Given the description of an element on the screen output the (x, y) to click on. 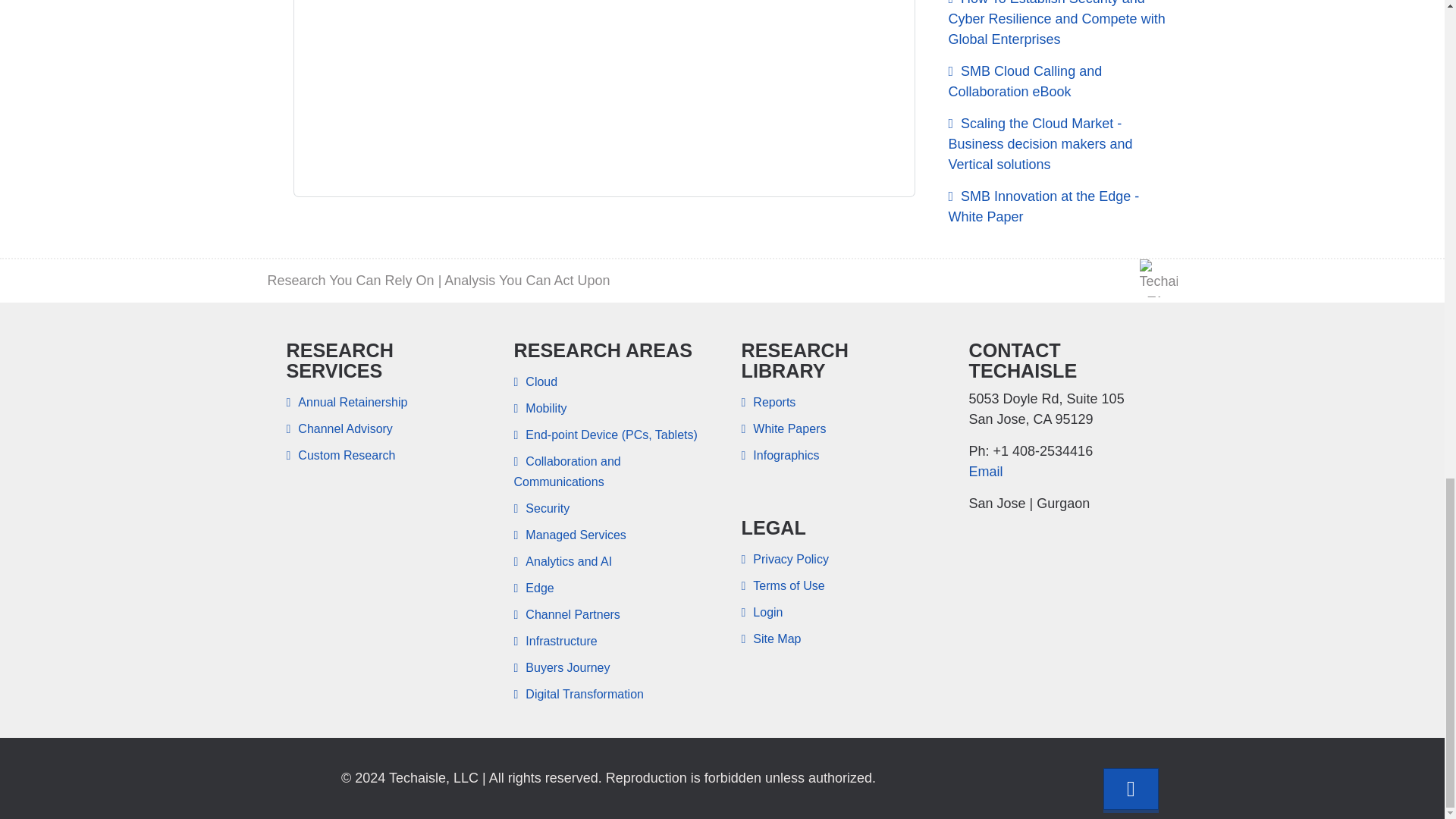
ta-avatar-50 image (1157, 278)
